Given the description of an element on the screen output the (x, y) to click on. 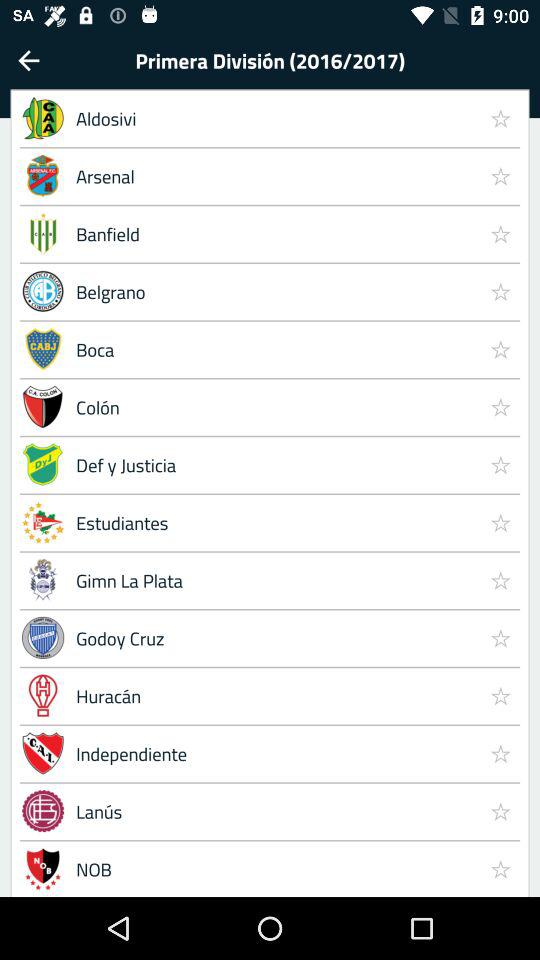
open the icon next to the estudiantes icon (500, 579)
